Given the description of an element on the screen output the (x, y) to click on. 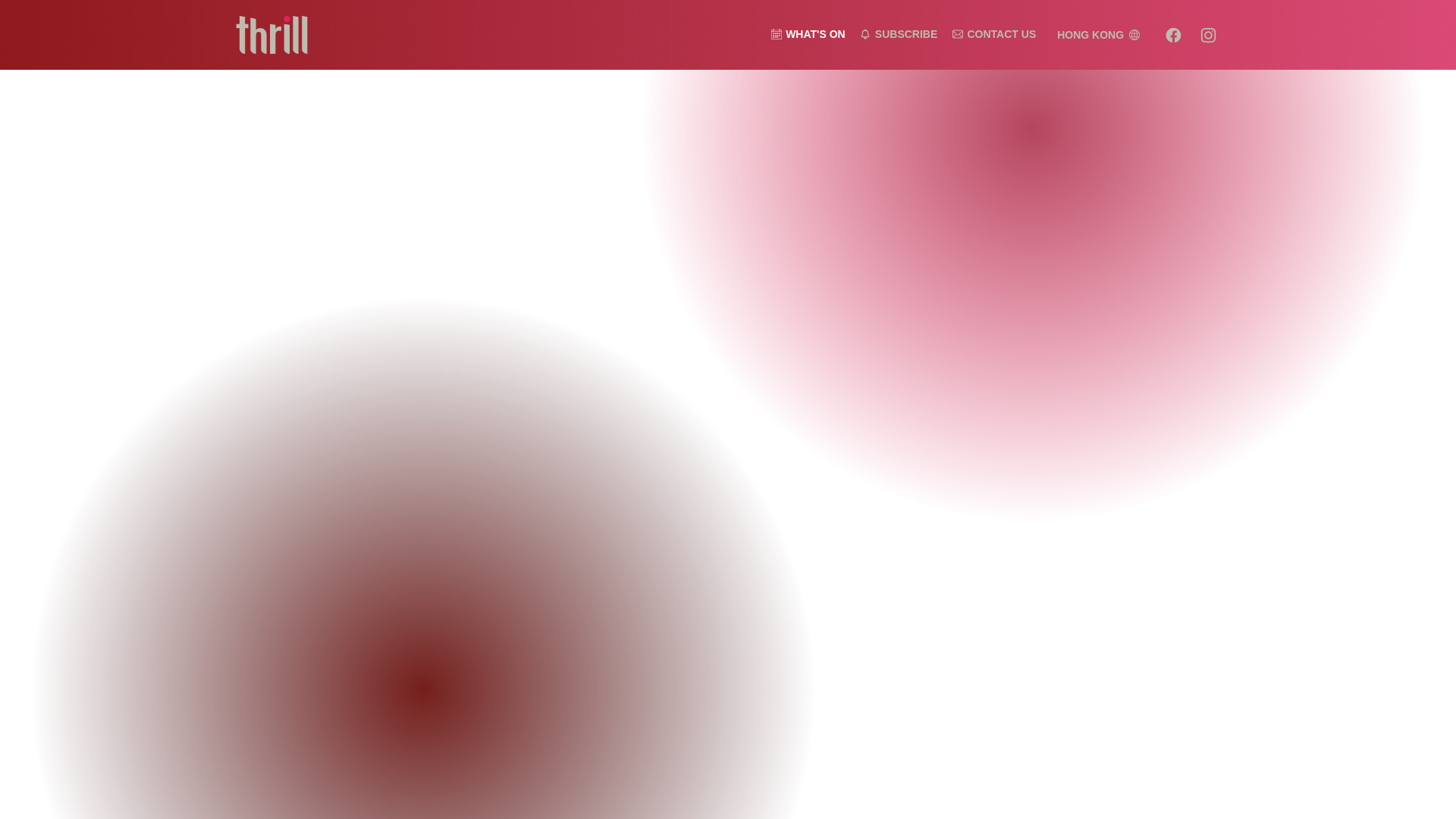
SUBSCRIBE (898, 33)
CONTACT US (993, 33)
WHAT'S ON (808, 33)
